Given the description of an element on the screen output the (x, y) to click on. 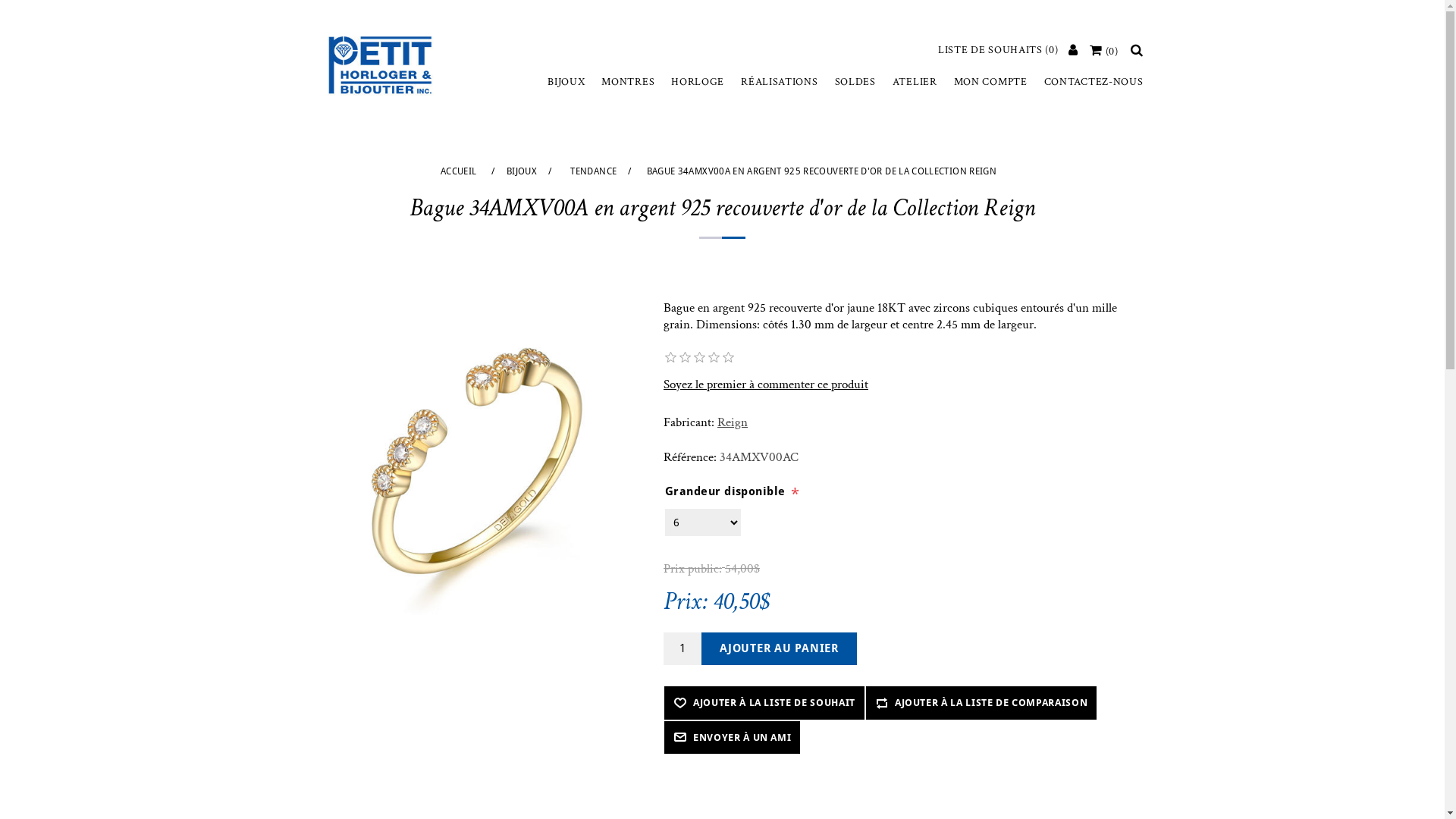
LISTE DE SOUHAITS (0) Element type: text (998, 49)
ATELIER Element type: text (914, 81)
(0) Element type: text (1103, 51)
HORLOGE Element type: text (697, 81)
MON COMPTE Element type: text (990, 81)
CONTACTEZ-NOUS Element type: text (1093, 81)
BIJOUX Element type: text (565, 81)
SOLDES Element type: text (854, 81)
Reign Element type: text (732, 422)
Ajouter au panier Element type: text (778, 648)
ACCUEIL Element type: text (458, 171)
BIJOUX Element type: text (521, 171)
MONTRES Element type: text (627, 81)
TENDANCE Element type: text (593, 171)
